Given the description of an element on the screen output the (x, y) to click on. 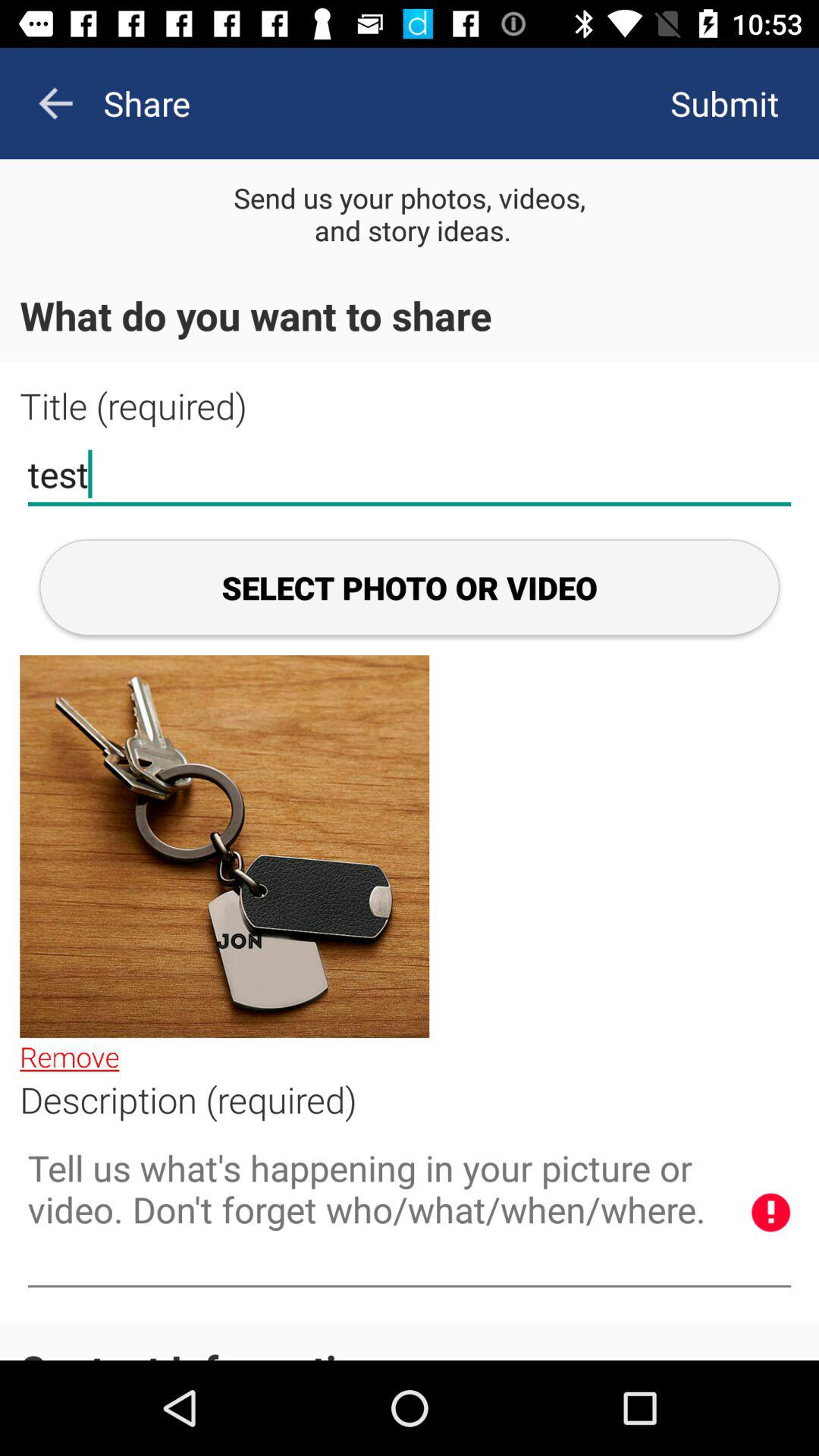
description area (409, 1213)
